Given the description of an element on the screen output the (x, y) to click on. 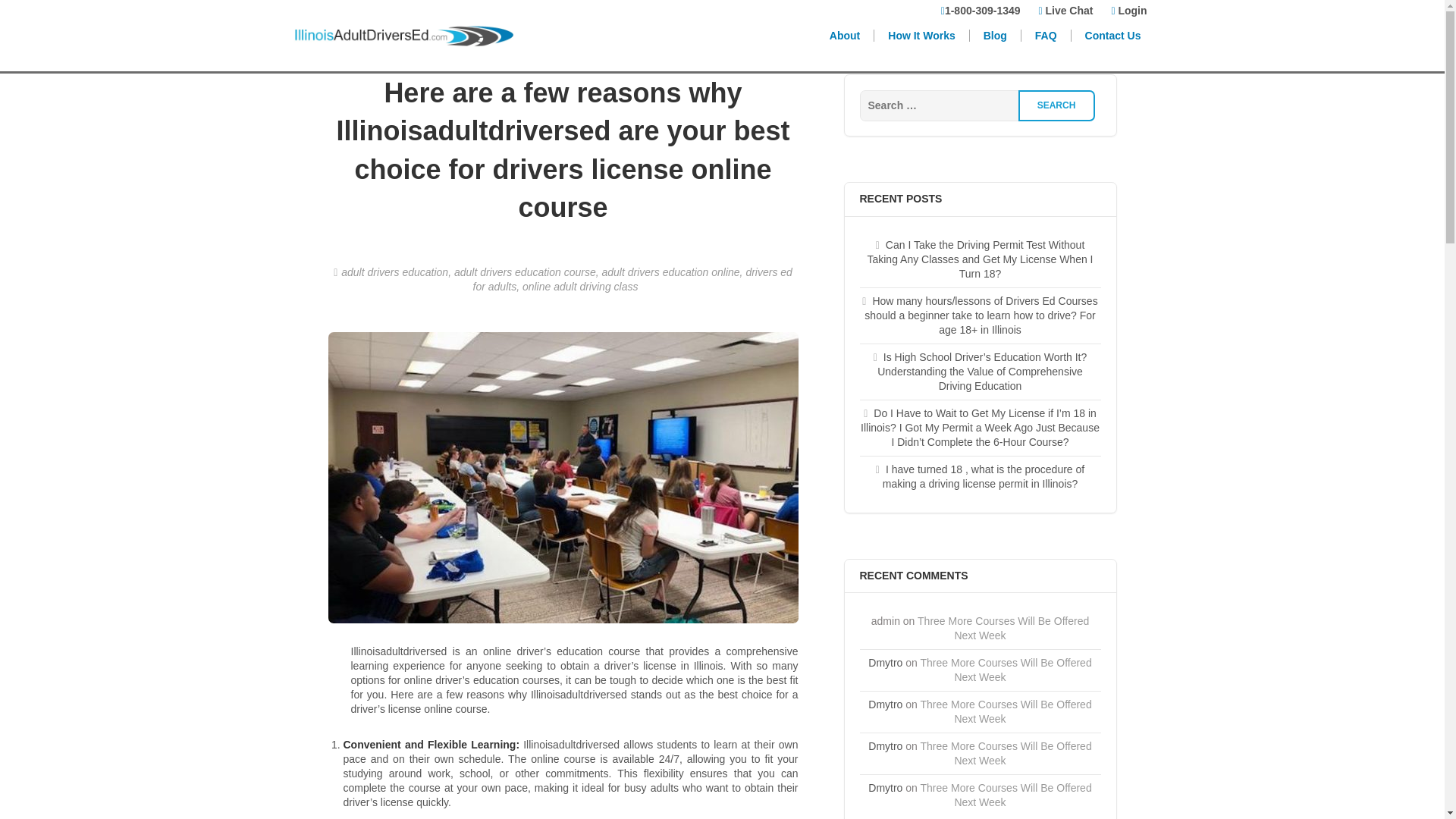
adult drivers education online (670, 272)
Search (1055, 105)
Dmytro (884, 787)
Search (1055, 105)
1-800-309-1349 (980, 12)
online adult driving class (580, 286)
Login (1128, 12)
Search (1055, 105)
Live Chat (1065, 12)
adult drivers education course (524, 272)
About (845, 35)
FAQ (1046, 35)
Dmytro (884, 704)
